Given the description of an element on the screen output the (x, y) to click on. 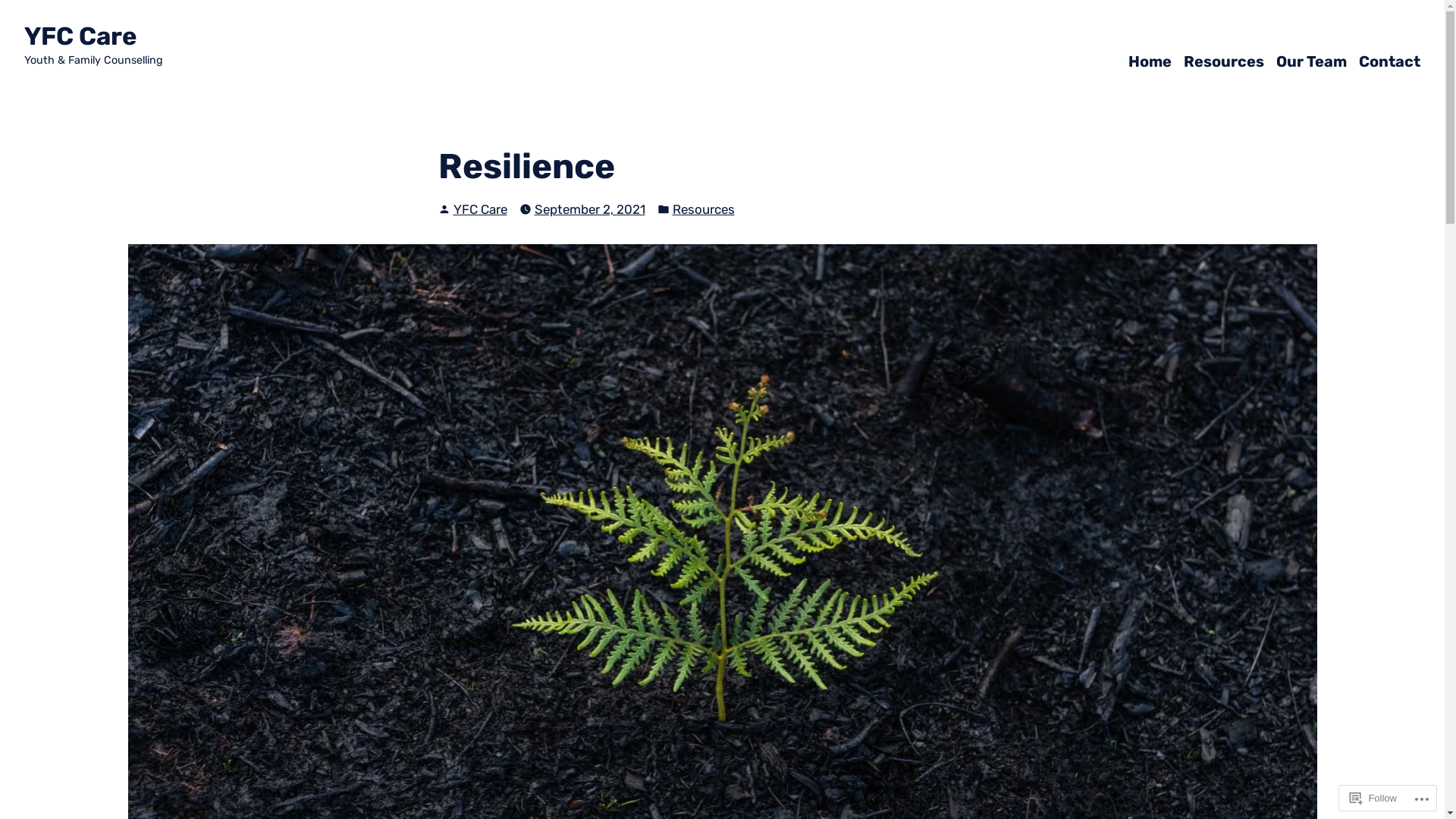
Contact Element type: text (1389, 60)
September 2, 2021 Element type: text (588, 208)
YFC Care Element type: text (80, 35)
Resources Element type: text (702, 208)
YFC Care Element type: text (480, 208)
Resources Element type: text (1223, 60)
Home Element type: text (1149, 60)
Follow Element type: text (1372, 797)
Our Team Element type: text (1311, 60)
